Given the description of an element on the screen output the (x, y) to click on. 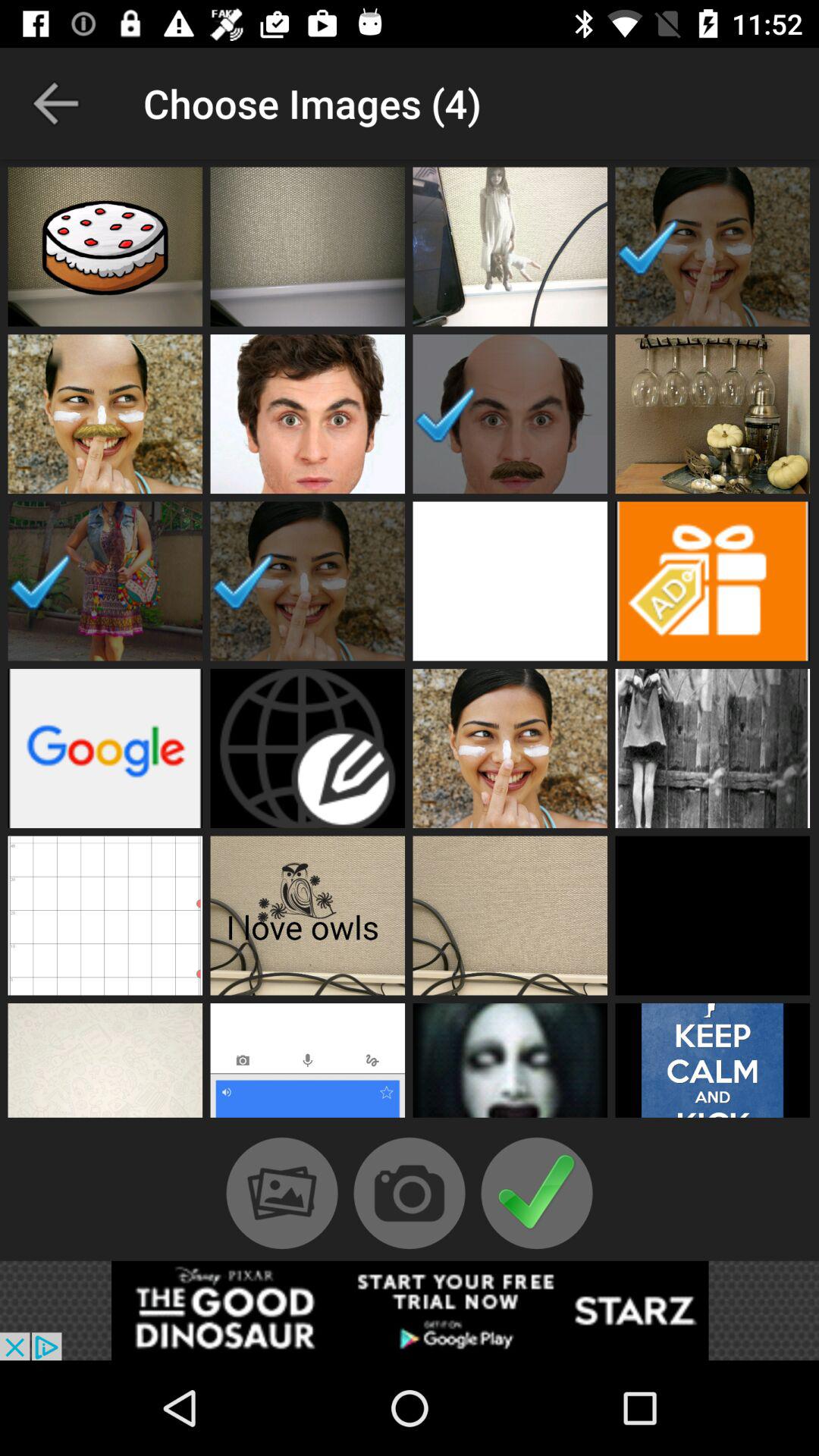
choose image (712, 246)
